Given the description of an element on the screen output the (x, y) to click on. 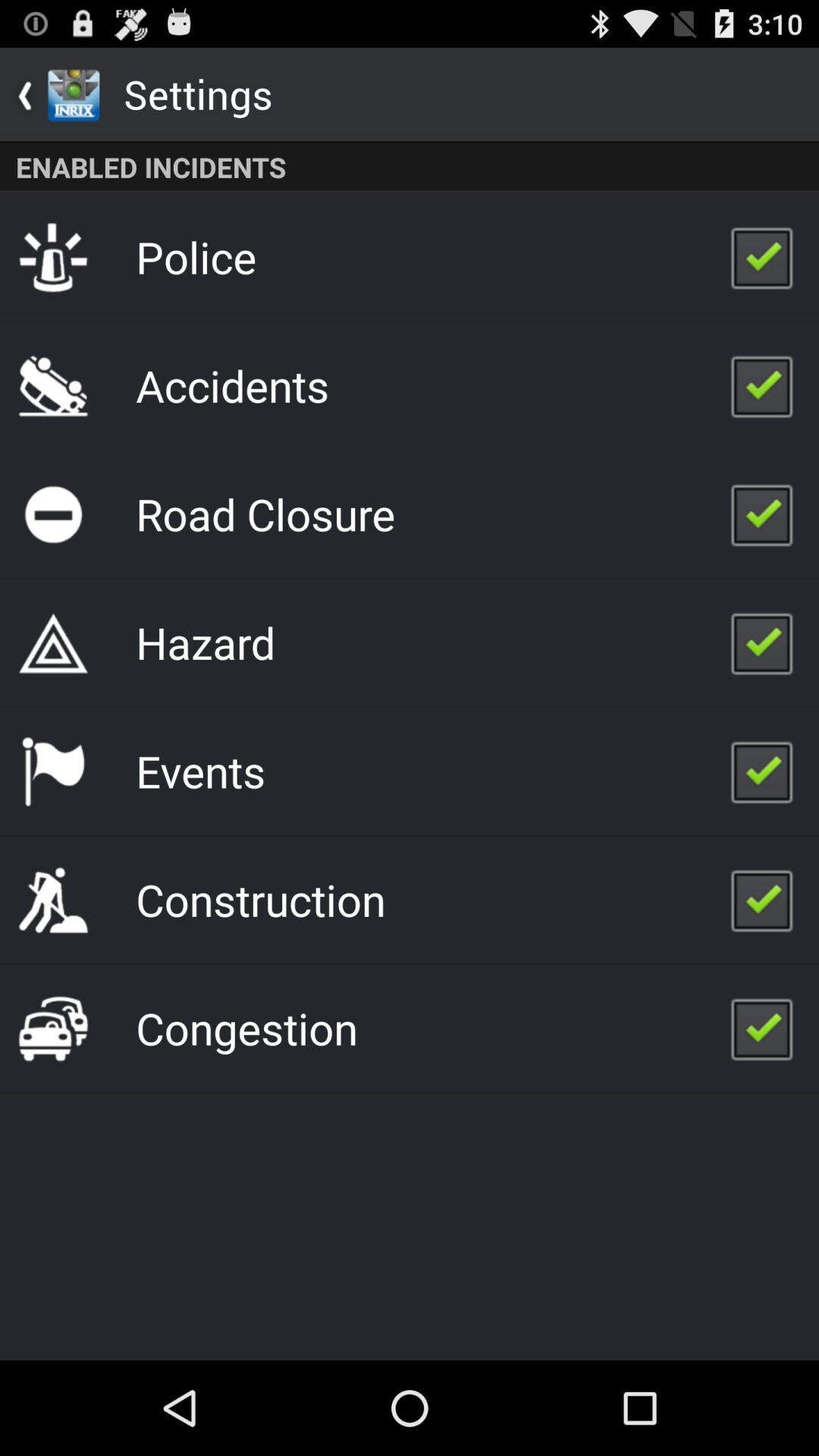
press the congestion (246, 1027)
